Given the description of an element on the screen output the (x, y) to click on. 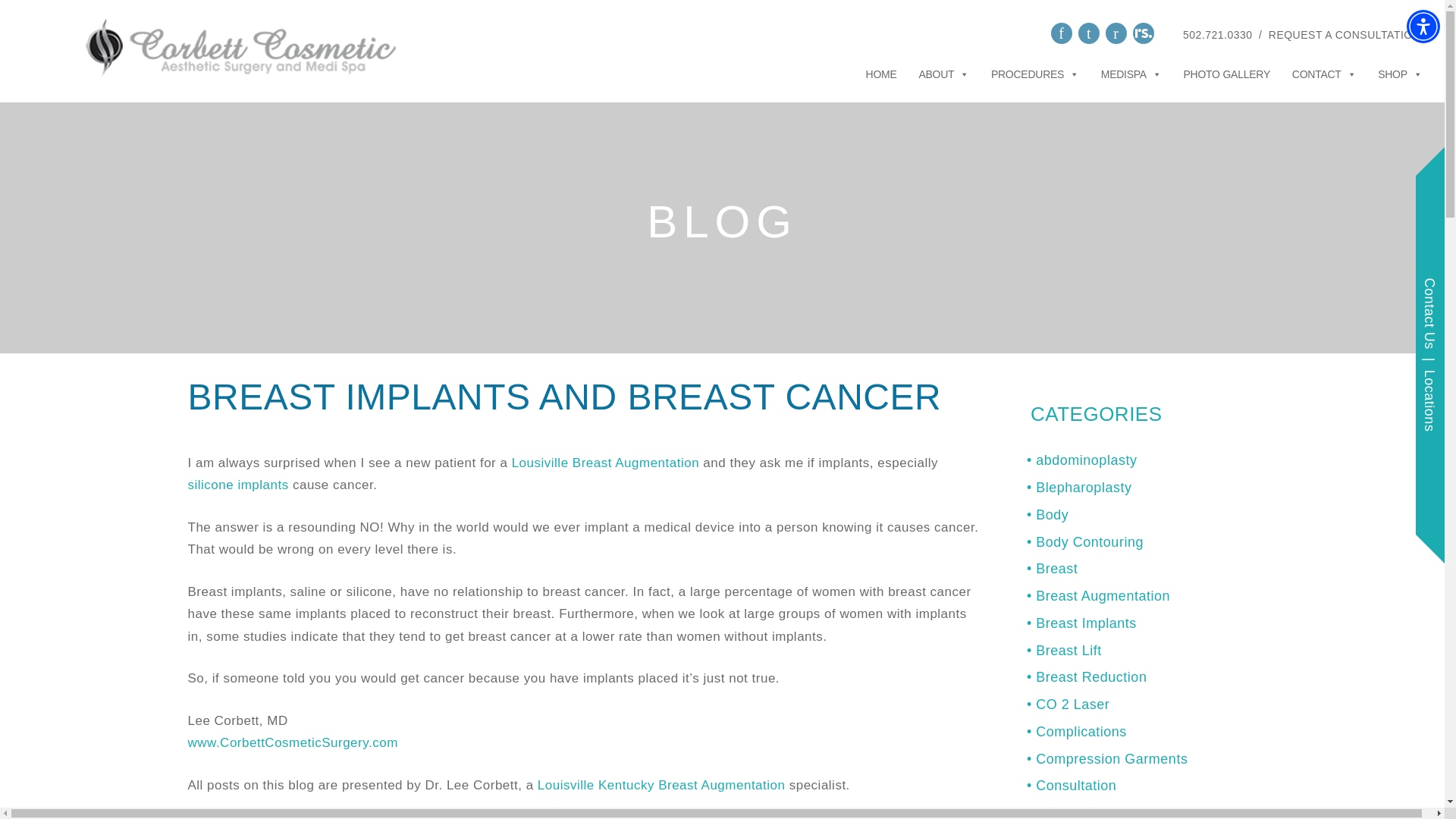
HOME (881, 70)
Accessibility Menu (1422, 26)
502.721.0330 (1217, 34)
ABOUT (943, 70)
PROCEDURES (1034, 70)
